Given the description of an element on the screen output the (x, y) to click on. 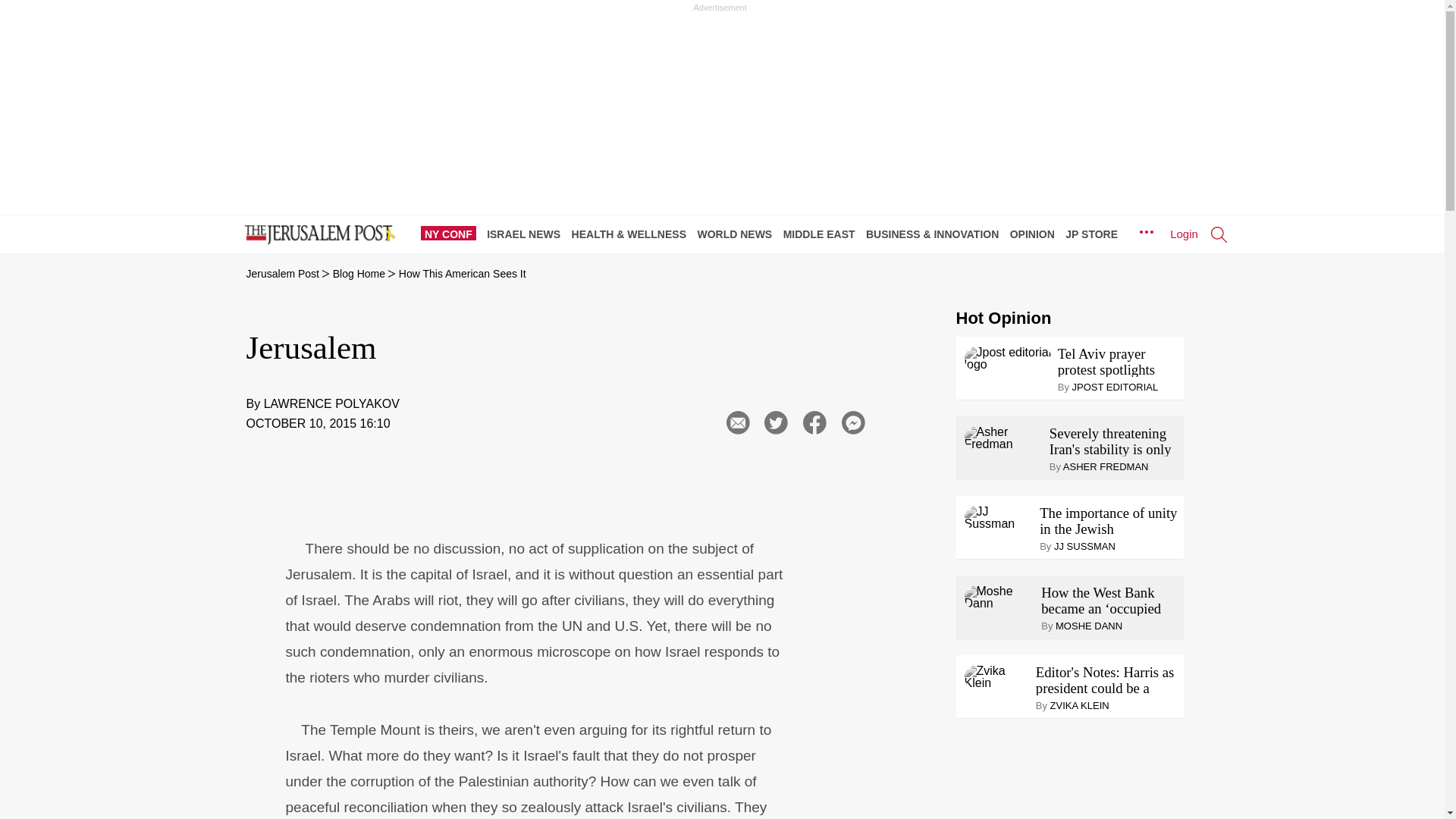
Moshe Dann (999, 597)
The Jerusalem Post Logo - Bring them home now (316, 235)
Share on twitter: Jerusalem (776, 423)
WORLD NEWS (737, 234)
JP STORE (1095, 234)
Share on fb-messenger: Jerusalem (853, 423)
ASHER FREDMAN (1105, 466)
Tel Aviv prayer protest spotlights secular-religious rift (1117, 361)
JJ Sussman (998, 517)
